Given the description of an element on the screen output the (x, y) to click on. 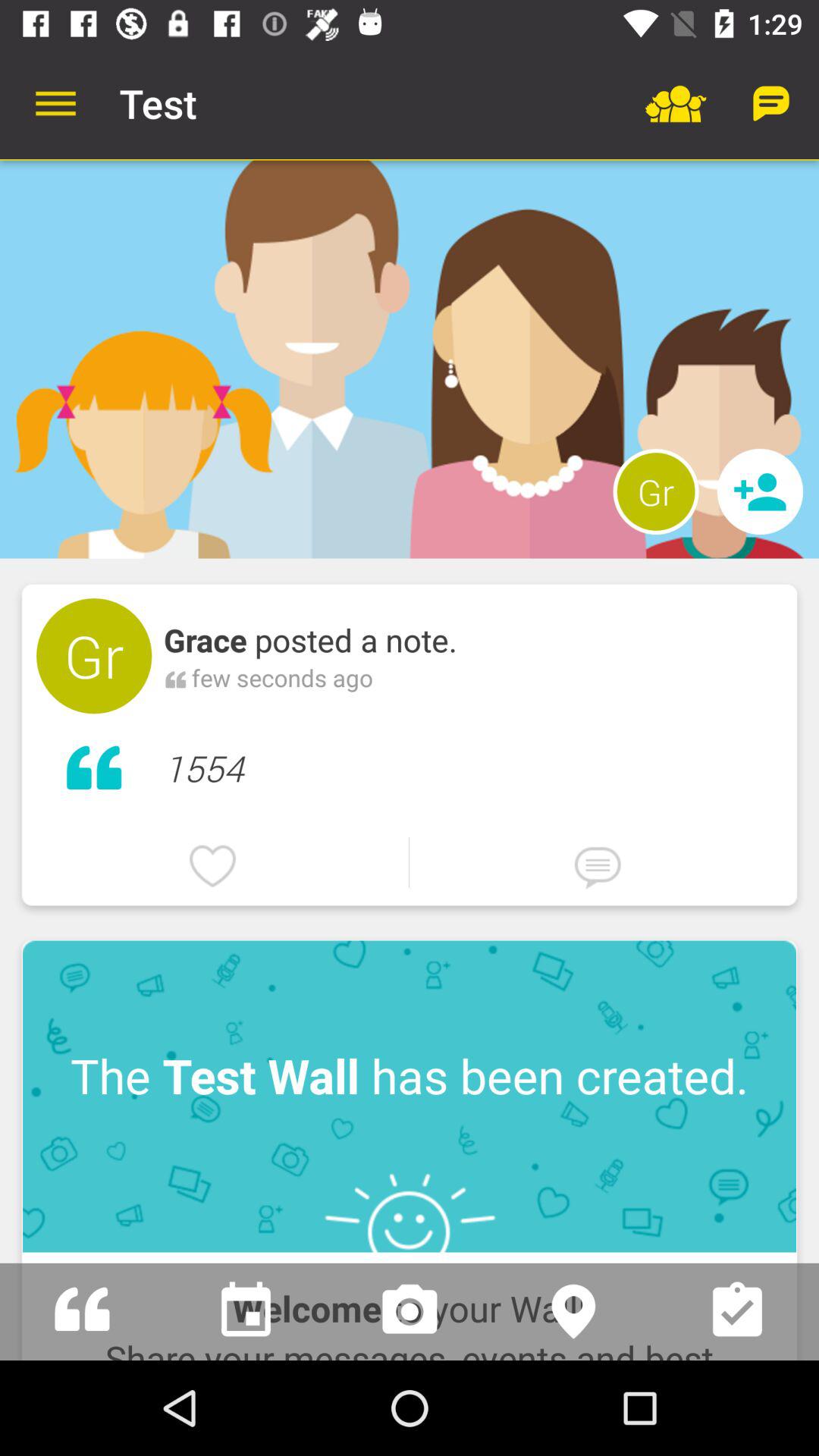
turn off 1554 item (472, 764)
